Given the description of an element on the screen output the (x, y) to click on. 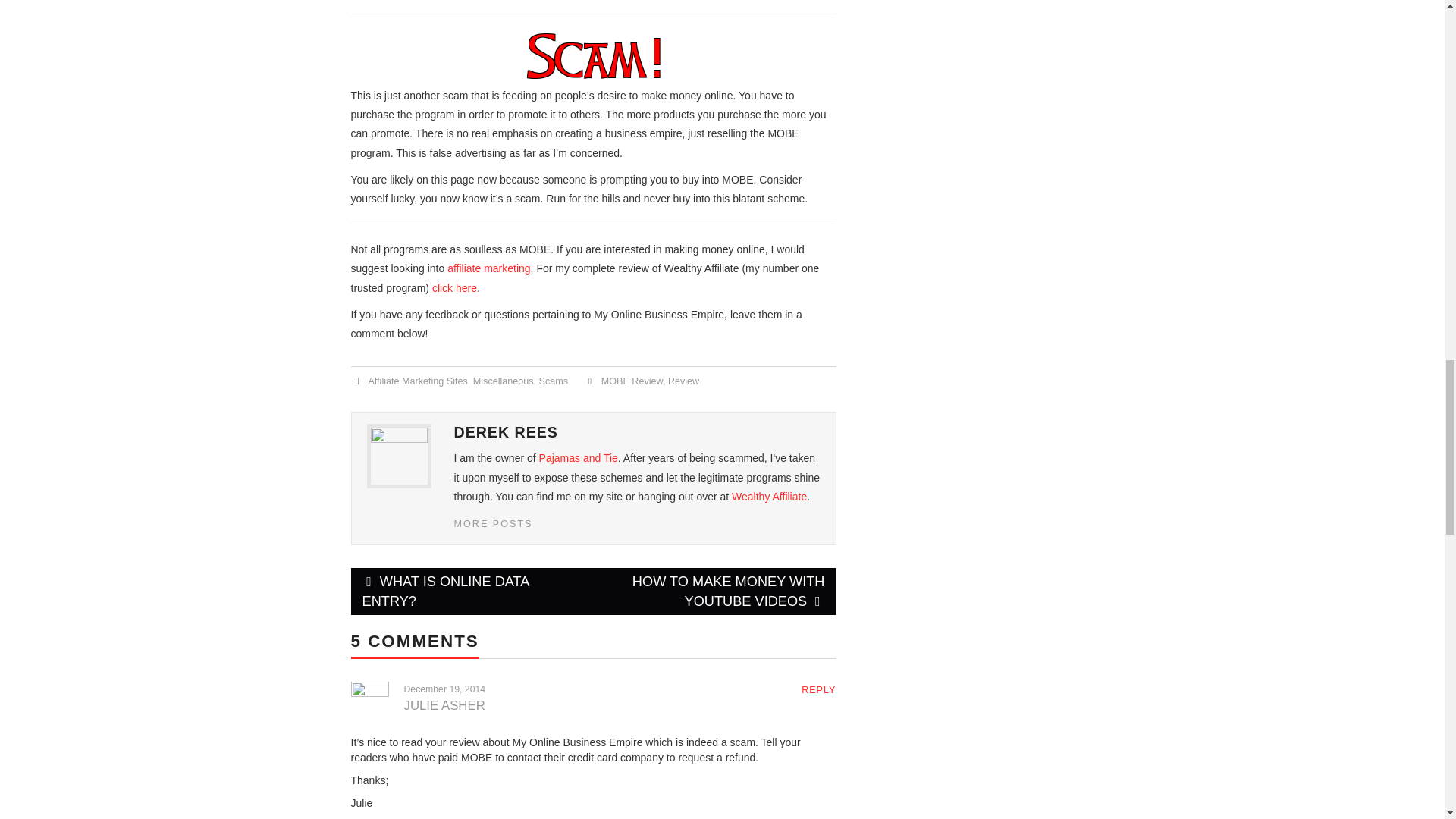
Affiliate Marketing Sites (417, 380)
click here (454, 287)
MORE POSTS (492, 523)
December 19, 2014 (443, 688)
WHAT IS ONLINE DATA ENTRY? (471, 591)
affiliate marketing (487, 268)
Scams (553, 380)
REPLY (818, 689)
A Wealthy Affiliate Review 2014 (454, 287)
HOW TO MAKE MONEY WITH YOUTUBE VIDEOS (713, 591)
Wealthy Affiliate (769, 496)
How Does Affiliate Marketing Really Work? (487, 268)
MOBE Review (631, 380)
Miscellaneous (503, 380)
Pajamas and Tie (577, 458)
